Given the description of an element on the screen output the (x, y) to click on. 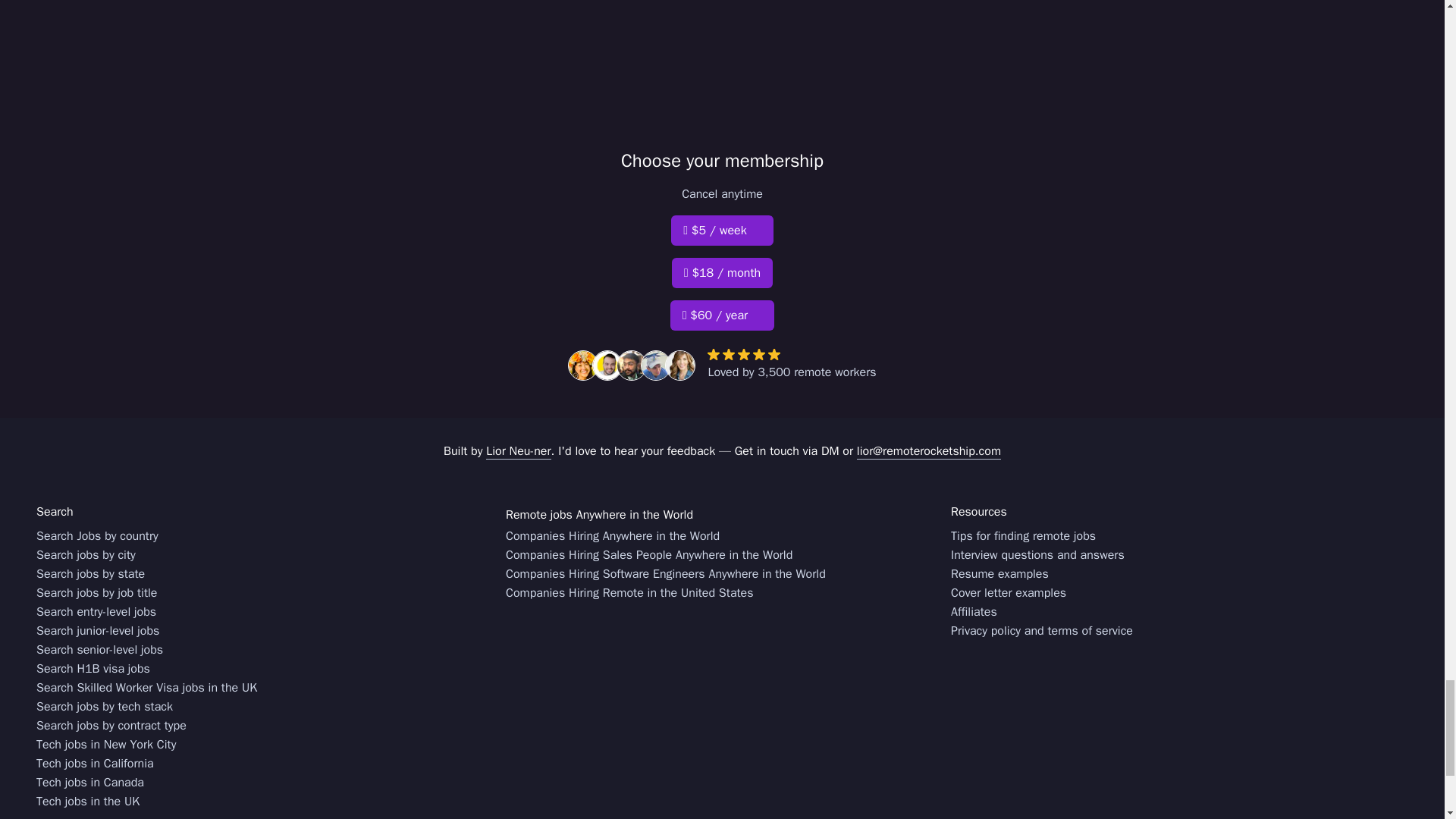
Search Jobs by country (97, 536)
Lior Neu-ner (518, 451)
Search jobs by city (85, 555)
